Given the description of an element on the screen output the (x, y) to click on. 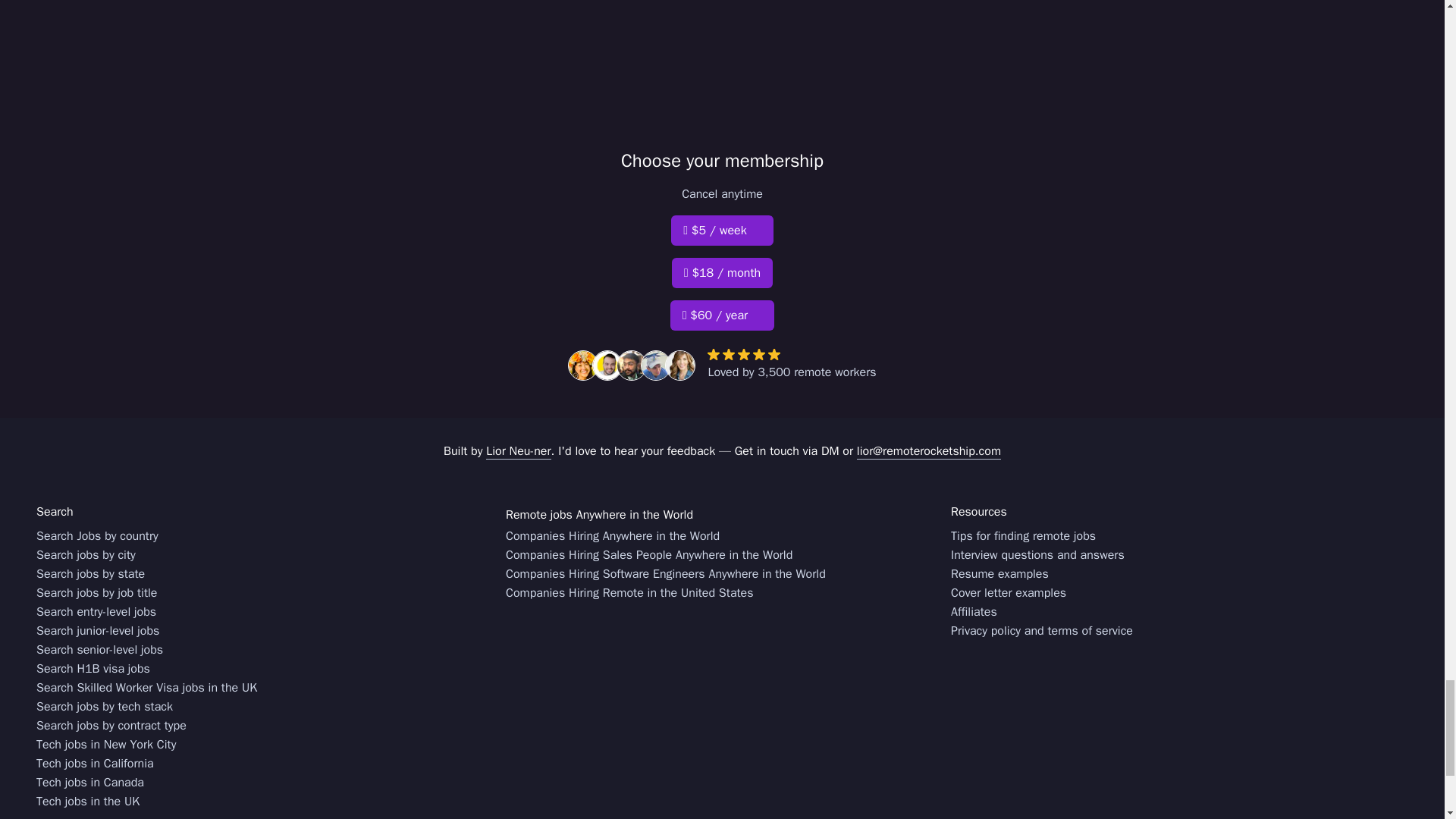
Search Jobs by country (97, 536)
Lior Neu-ner (518, 451)
Search jobs by city (85, 555)
